Given the description of an element on the screen output the (x, y) to click on. 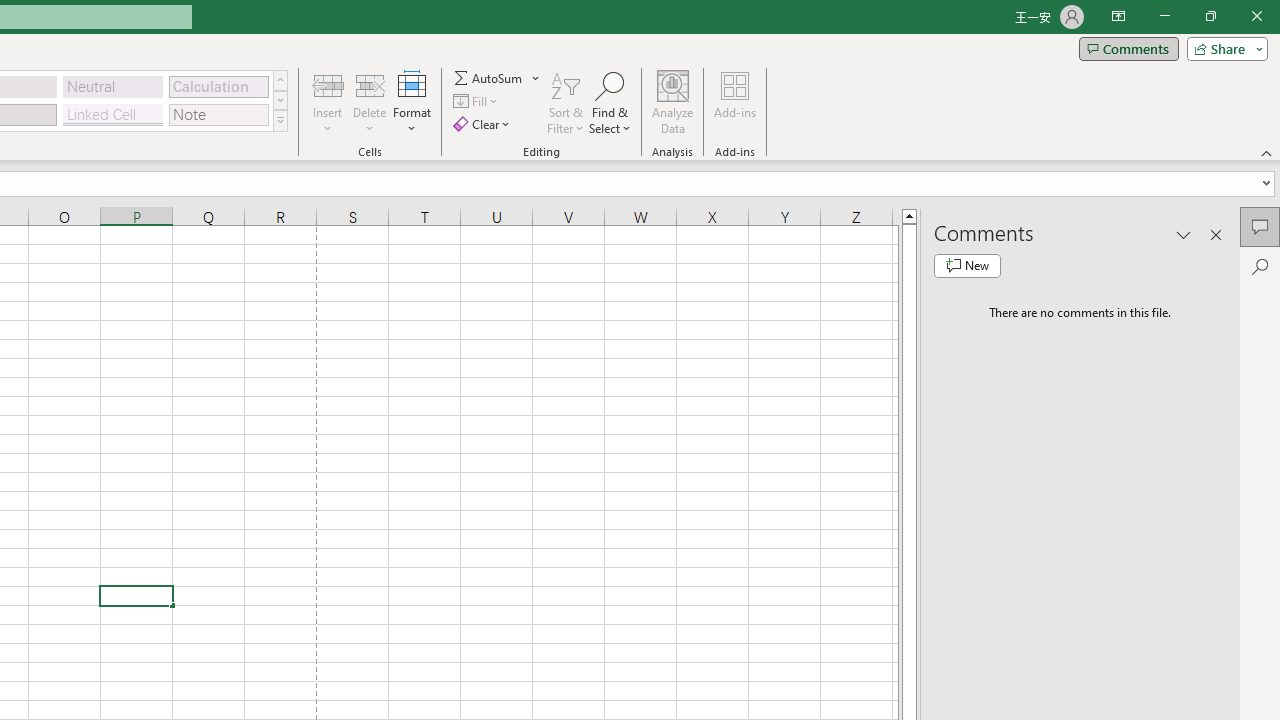
New comment (967, 265)
Fill (477, 101)
Row Down (280, 100)
Find & Select (610, 102)
Class: NetUIImage (280, 120)
Note (218, 114)
Delete (369, 102)
AutoSum (497, 78)
Delete Cells... (369, 84)
Sort & Filter (566, 102)
Cell Styles (280, 120)
